Given the description of an element on the screen output the (x, y) to click on. 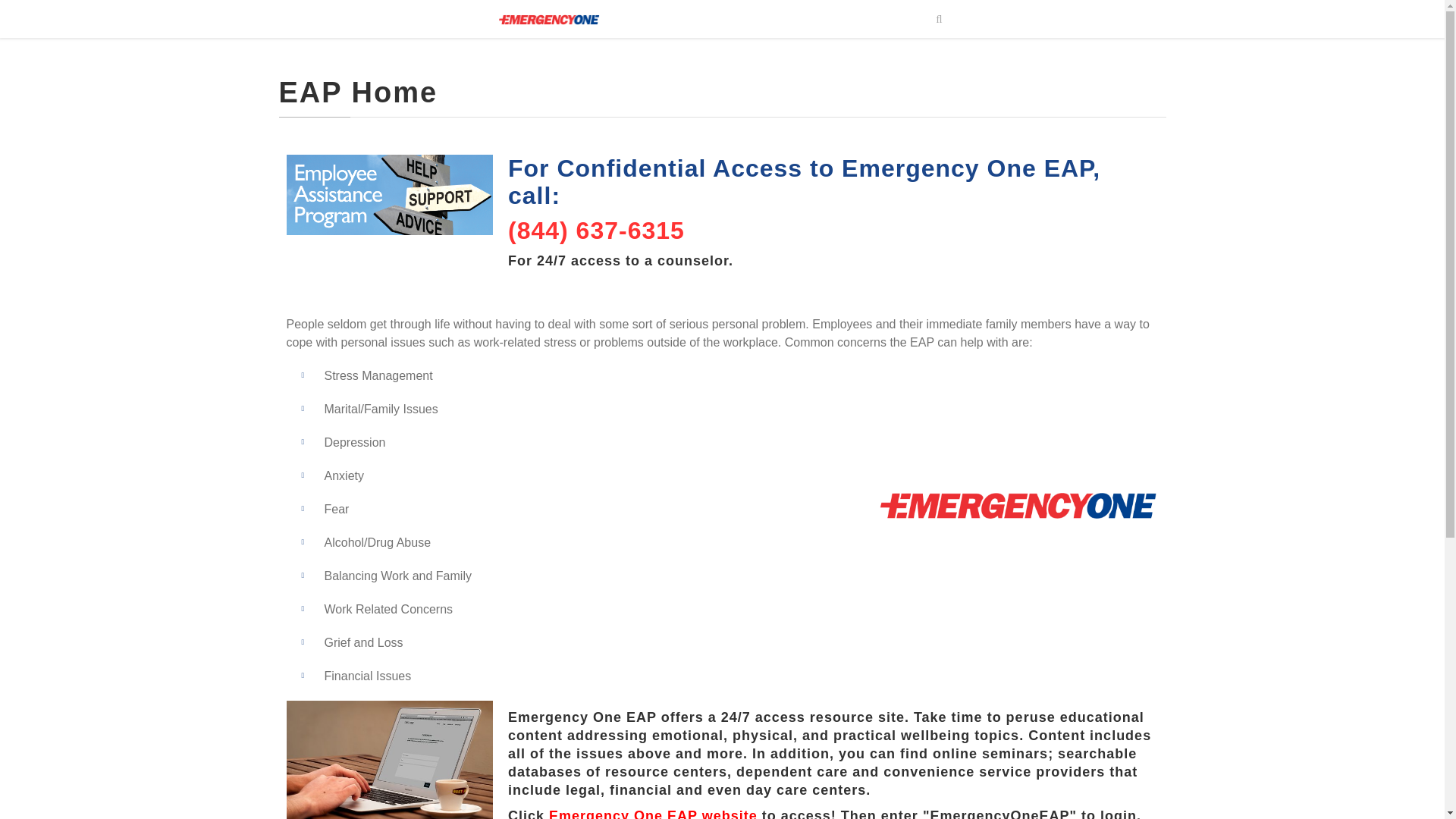
Emergency One EAP website (652, 813)
